Given the description of an element on the screen output the (x, y) to click on. 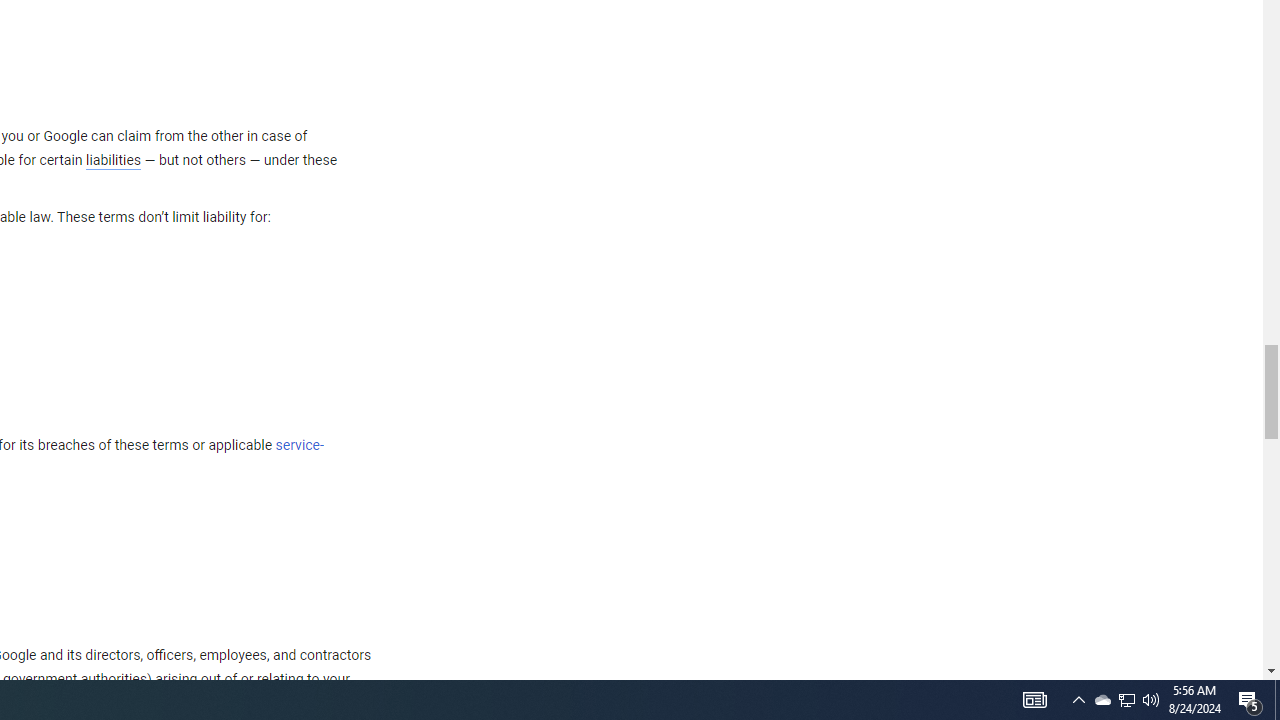
liabilities (113, 160)
